Given the description of an element on the screen output the (x, y) to click on. 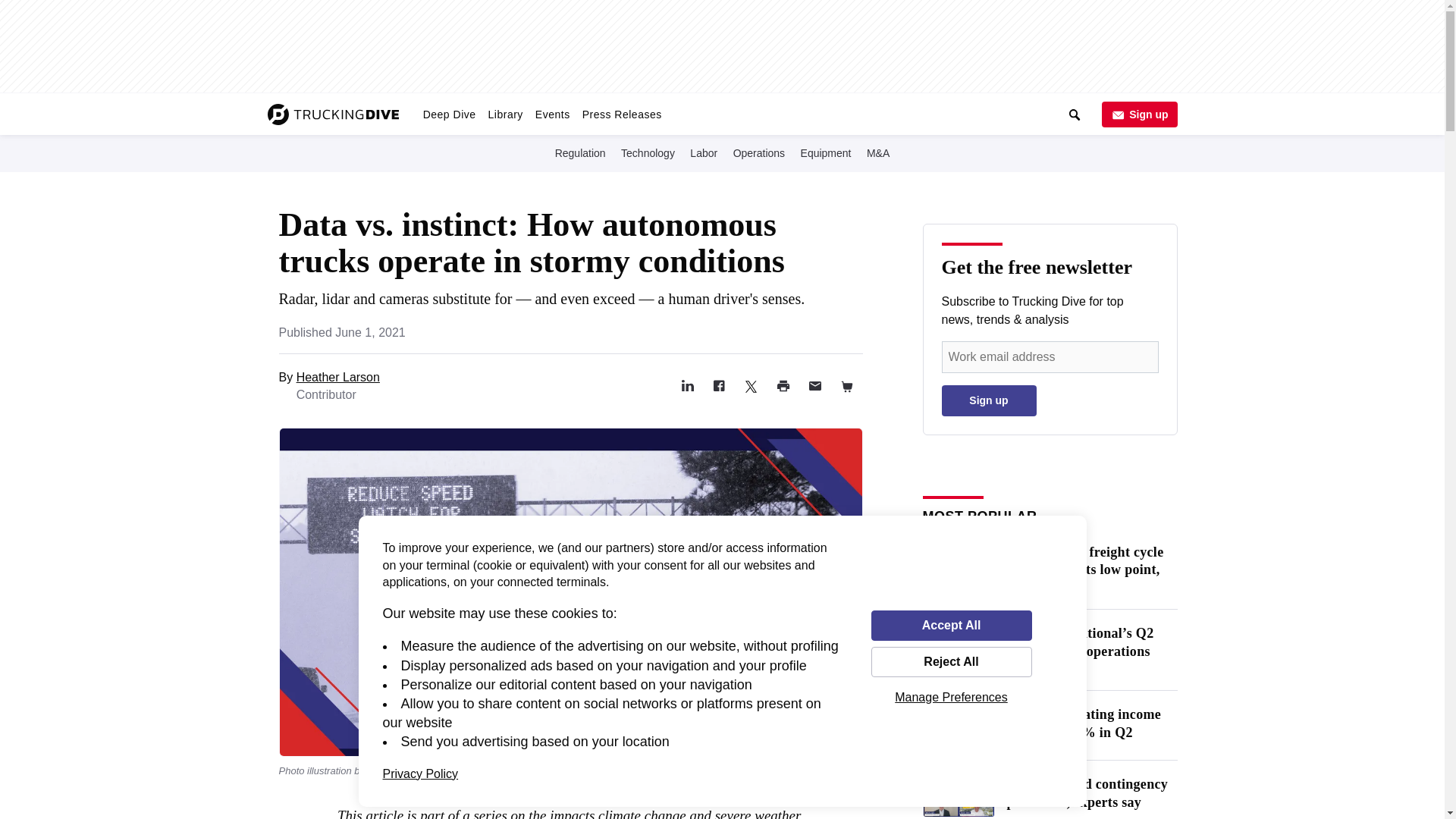
Manage Preferences (950, 697)
Equipment (825, 152)
Events (552, 114)
Accept All (950, 625)
Operations (758, 152)
Technology (647, 152)
Press Releases (622, 114)
Library (505, 114)
Labor (703, 152)
Privacy Policy (419, 773)
